Given the description of an element on the screen output the (x, y) to click on. 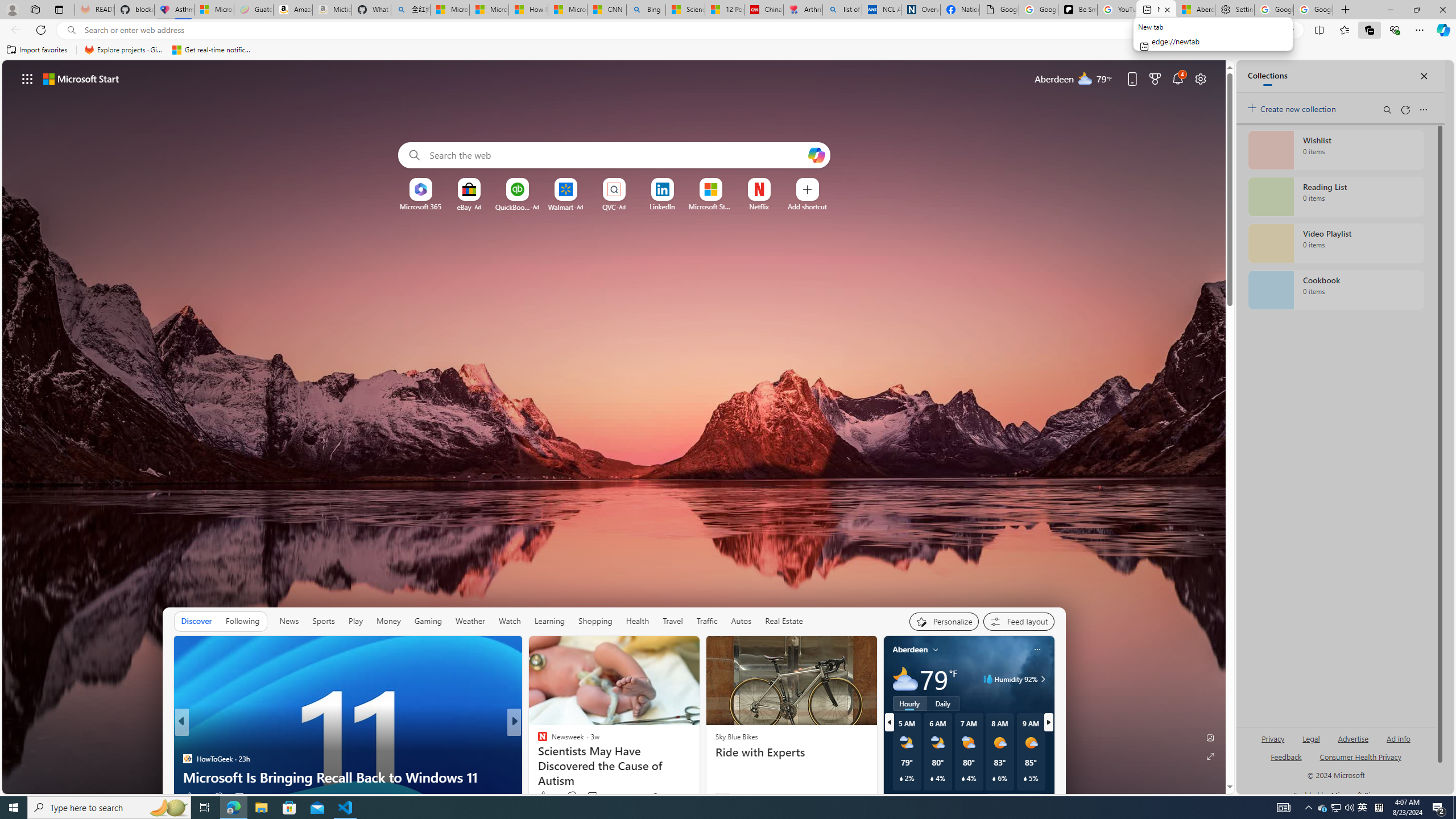
Expand background (1210, 756)
Microsoft Is Bringing Recall Back to Windows 11 (347, 777)
Netflix (758, 206)
Favorites bar (728, 49)
You're following Newsweek (670, 795)
Kinda Frugal (537, 740)
Personalize your feed" (943, 621)
